Given the description of an element on the screen output the (x, y) to click on. 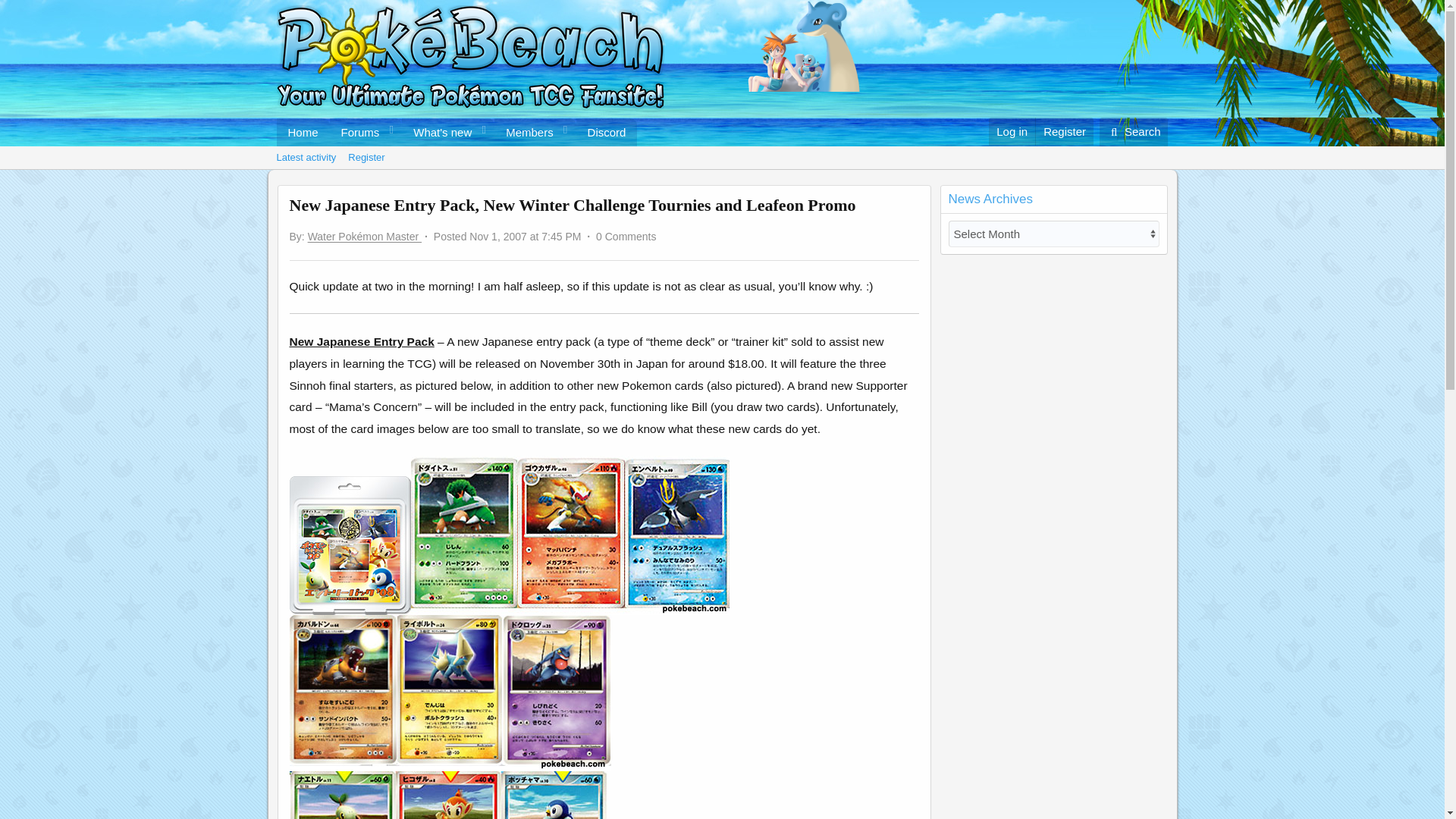
Search (1134, 131)
Discord (606, 131)
Register (1064, 131)
Nov 1, 2007 at 7:45 PM (524, 236)
Search (1134, 131)
Register (366, 157)
What's new (437, 131)
Home (302, 131)
Latest activity (456, 148)
